Given the description of an element on the screen output the (x, y) to click on. 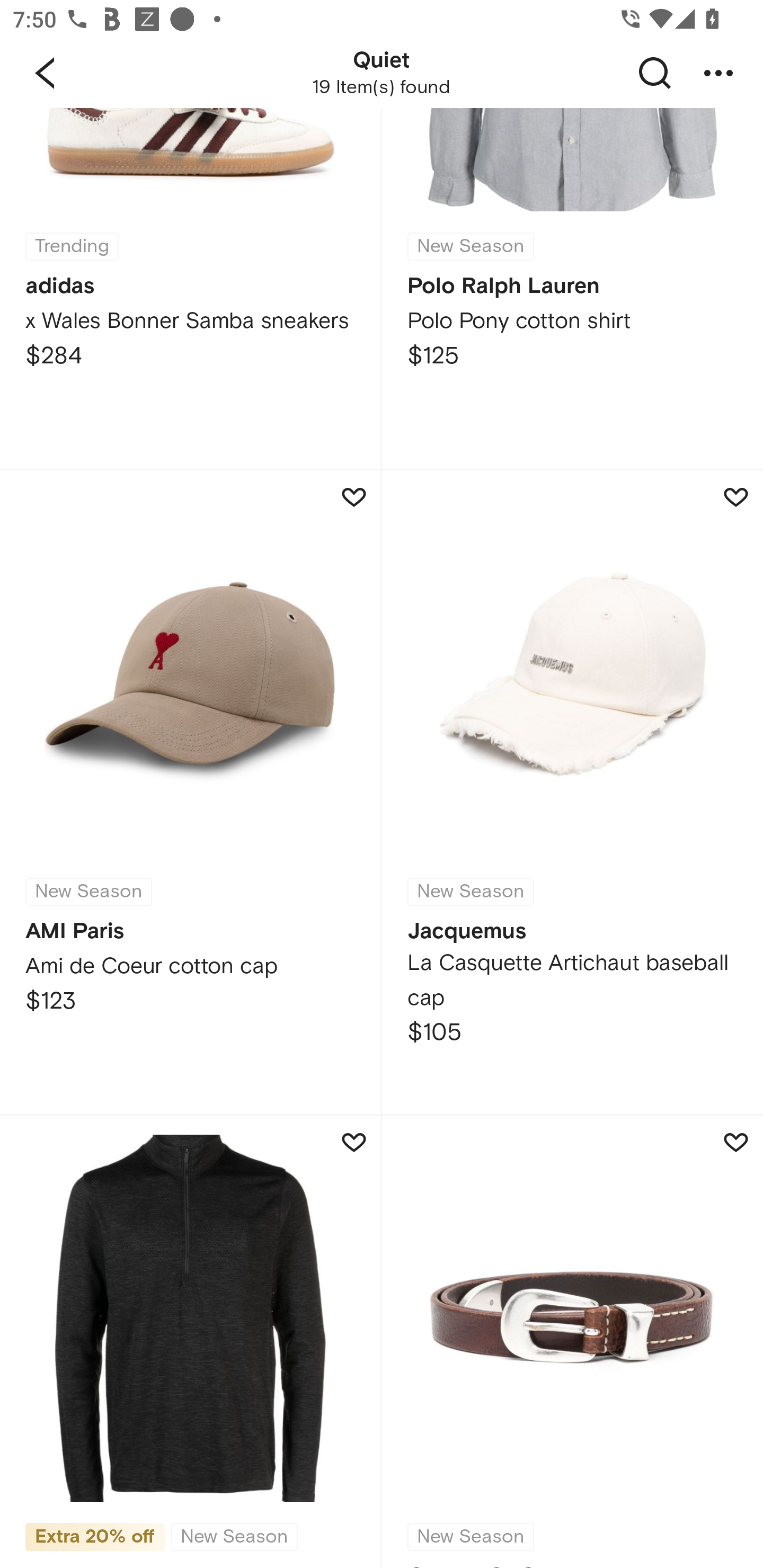
Trending adidas x Wales Bonner Samba sneakers $284 (190, 288)
New Season AMI Paris Ami de Coeur cotton cap $123 (190, 791)
Extra 20% off New Season lululemon (190, 1341)
New Season OUR LEGACY (572, 1341)
Extra 20% off (94, 1533)
